Given the description of an element on the screen output the (x, y) to click on. 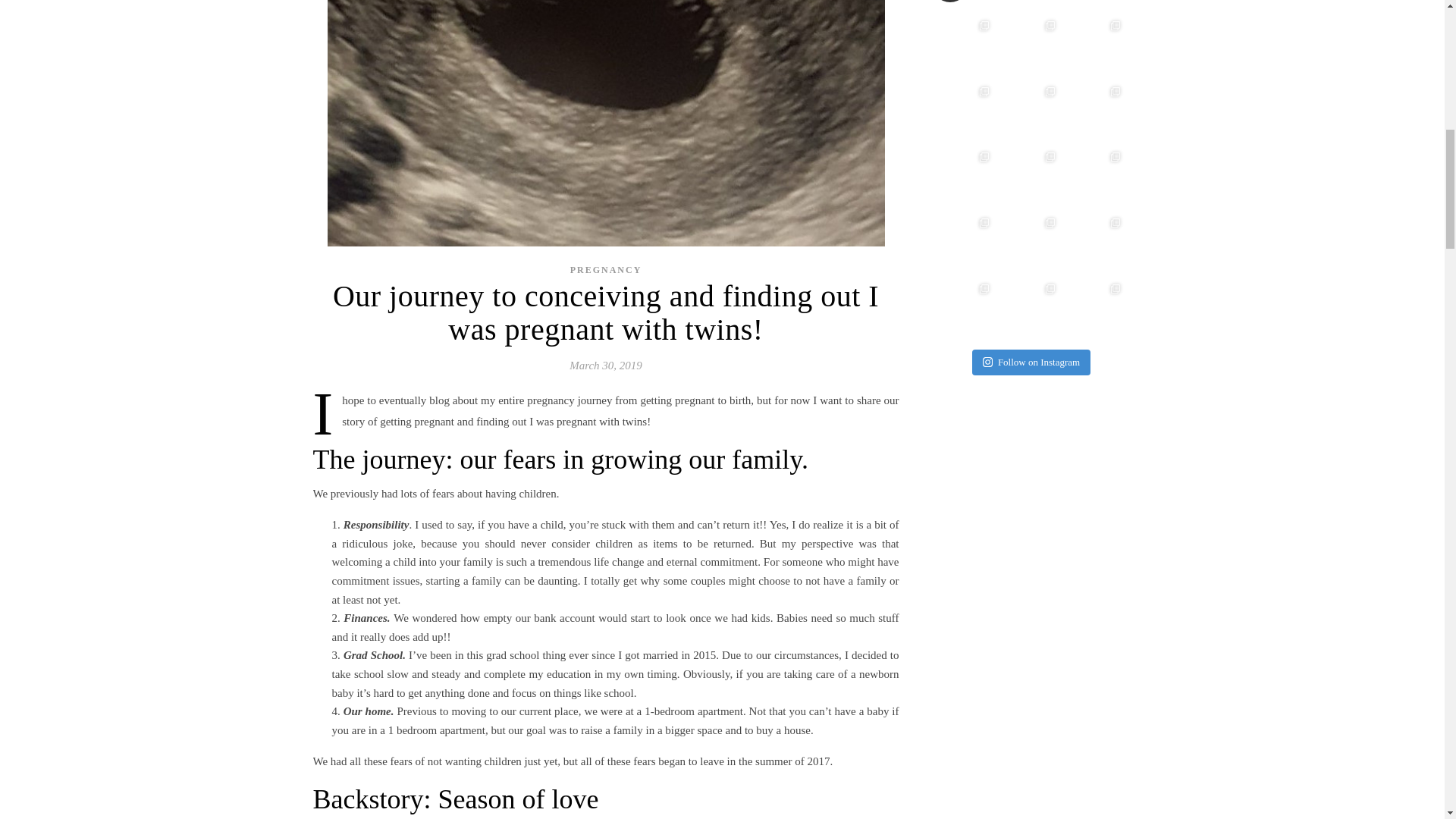
Vbs shenanigans from last week (963, 243)
Getting some practice scootering around the neighb (1029, 243)
Perfect day for some soccer and a happy meal picni (1094, 177)
All smiles (1094, 46)
Online VBS 2020: Rocky Railway! Hubby and I (963, 309)
I recently did some pantry organization and found (1029, 177)
PREGNANCY (606, 269)
it was too hot for the zoo.. we died (963, 112)
they asked me to wrap them in blankets and then th (1029, 46)
Follow on Instagram (1031, 362)
mama to twin boys (1023, 1)
We were outside for only 20 min (1029, 112)
Yummy (963, 46)
nothing like water play on a hot summer day (1094, 243)
Afternoon smoothie with scoop of peanut butter (963, 177)
